Given the description of an element on the screen output the (x, y) to click on. 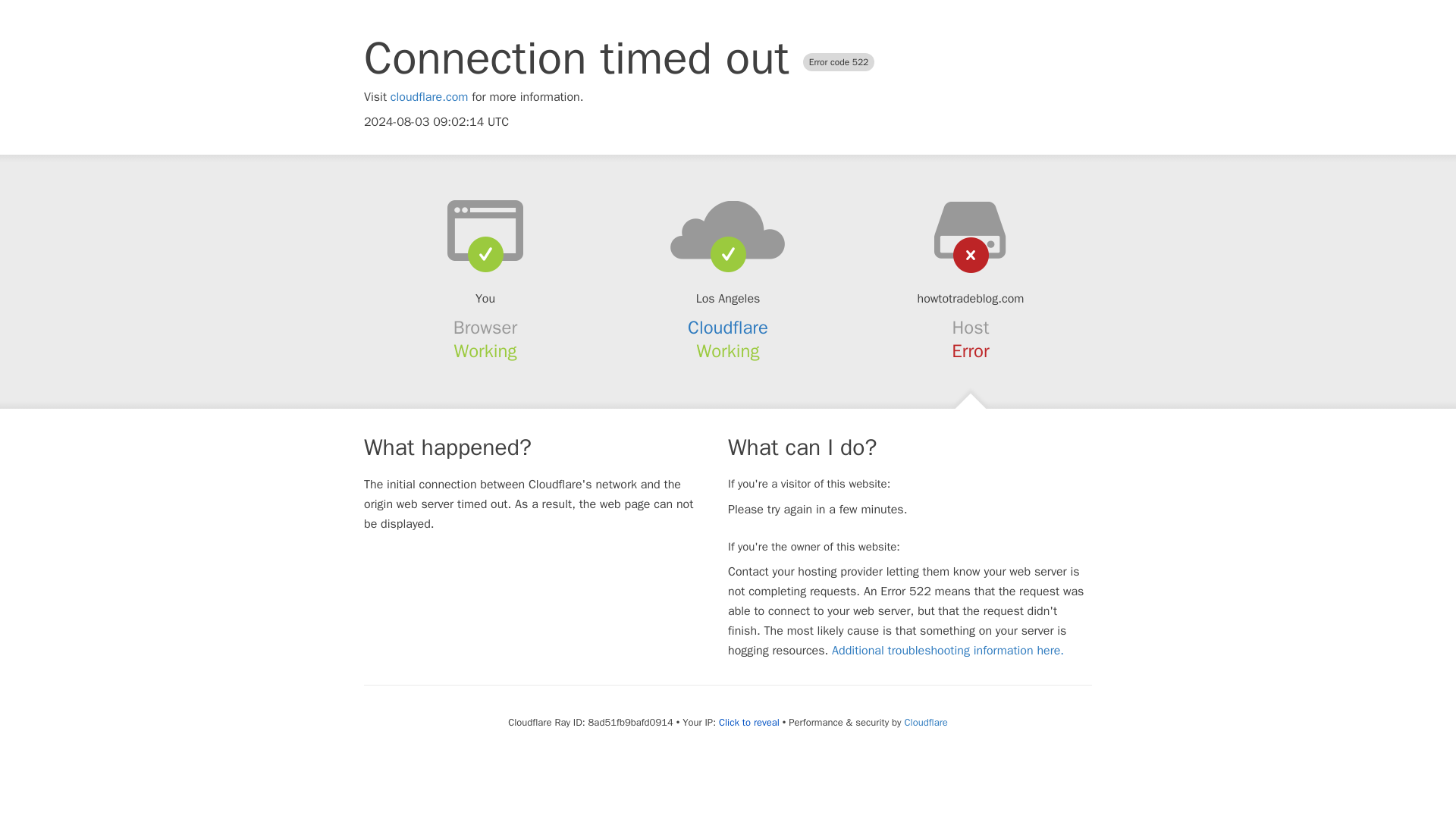
Click to reveal (748, 722)
Cloudflare (925, 721)
cloudflare.com (429, 96)
Cloudflare (727, 327)
Additional troubleshooting information here. (947, 650)
